Given the description of an element on the screen output the (x, y) to click on. 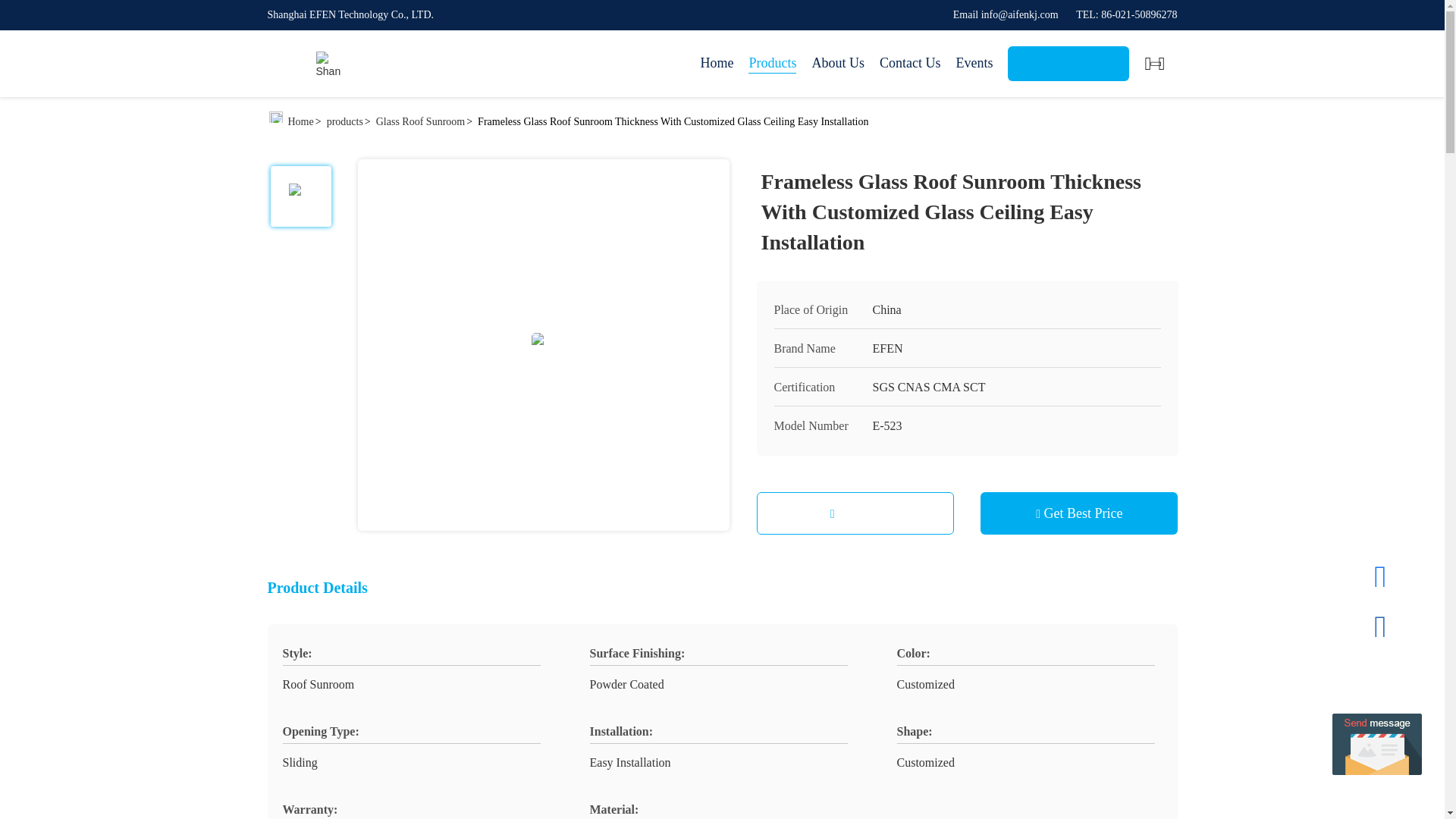
Glass Roof Sunroom (419, 121)
products (344, 121)
email (1005, 14)
Events (973, 63)
Request A Quote (1068, 63)
Contact Us (909, 63)
Home (716, 63)
About Us (837, 63)
Home (327, 63)
Home (301, 121)
Products (772, 63)
Contact Us (855, 513)
